Given the description of an element on the screen output the (x, y) to click on. 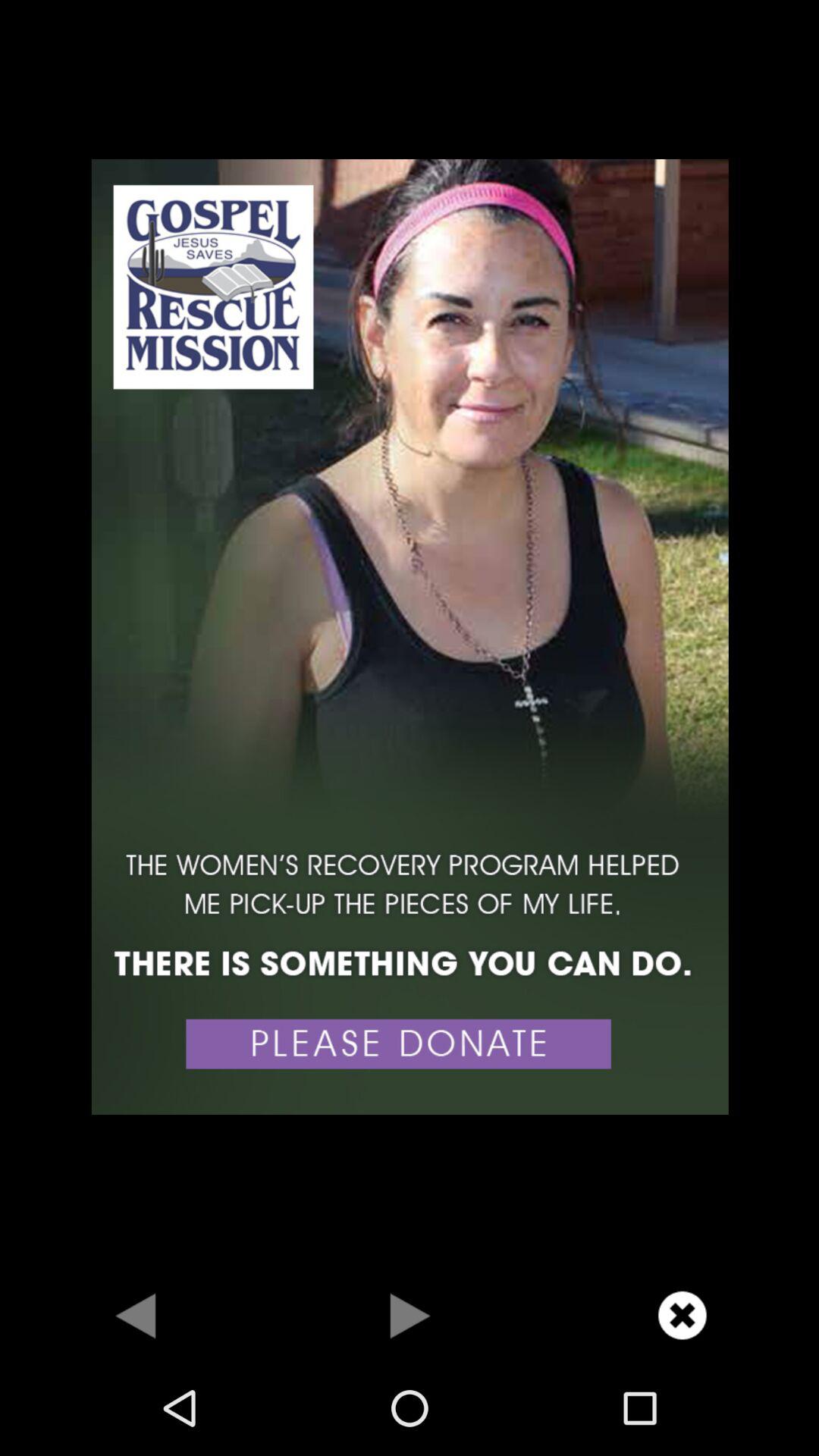
select play (409, 1315)
